Given the description of an element on the screen output the (x, y) to click on. 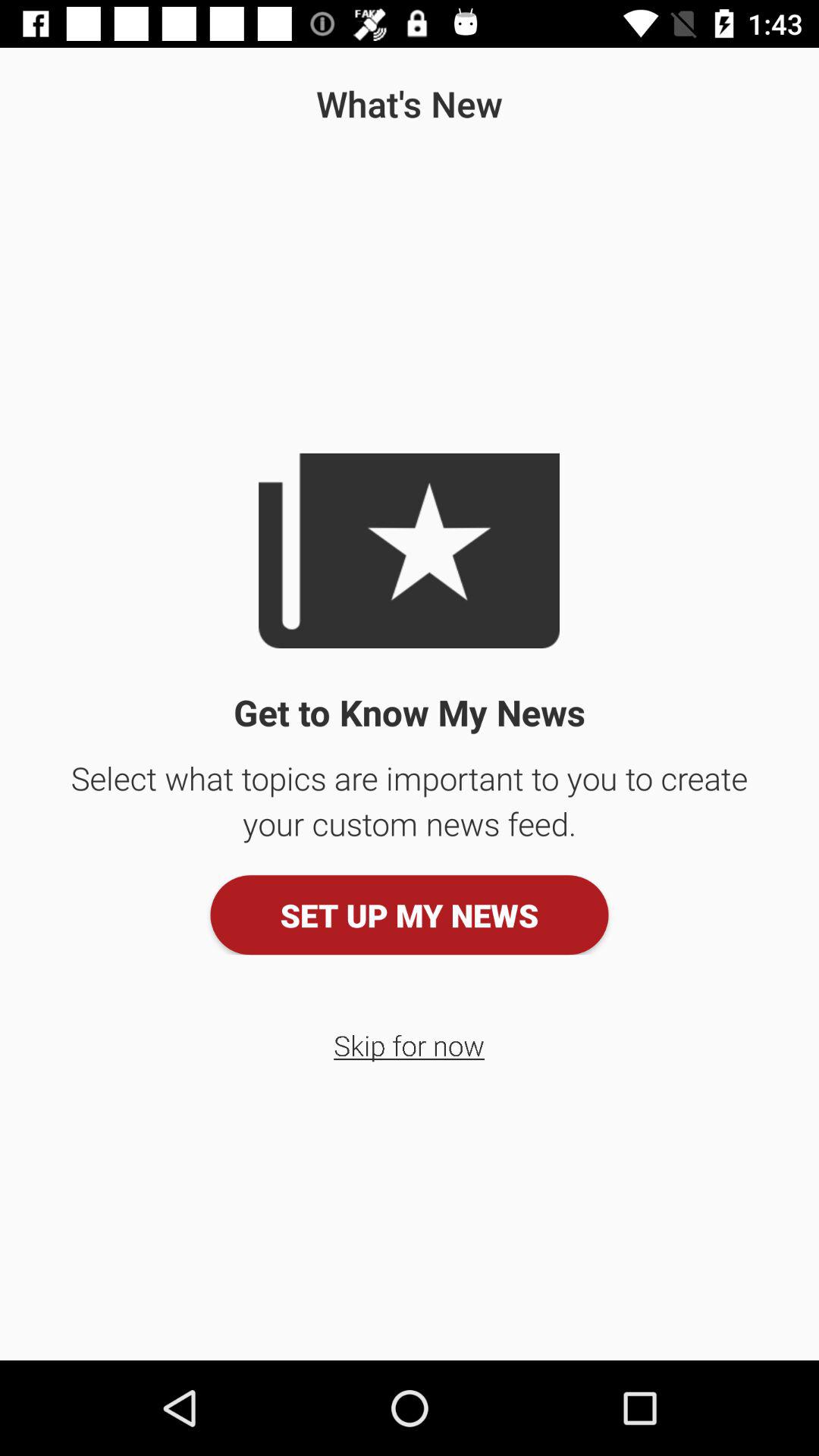
press the item below the select what topics icon (409, 914)
